Given the description of an element on the screen output the (x, y) to click on. 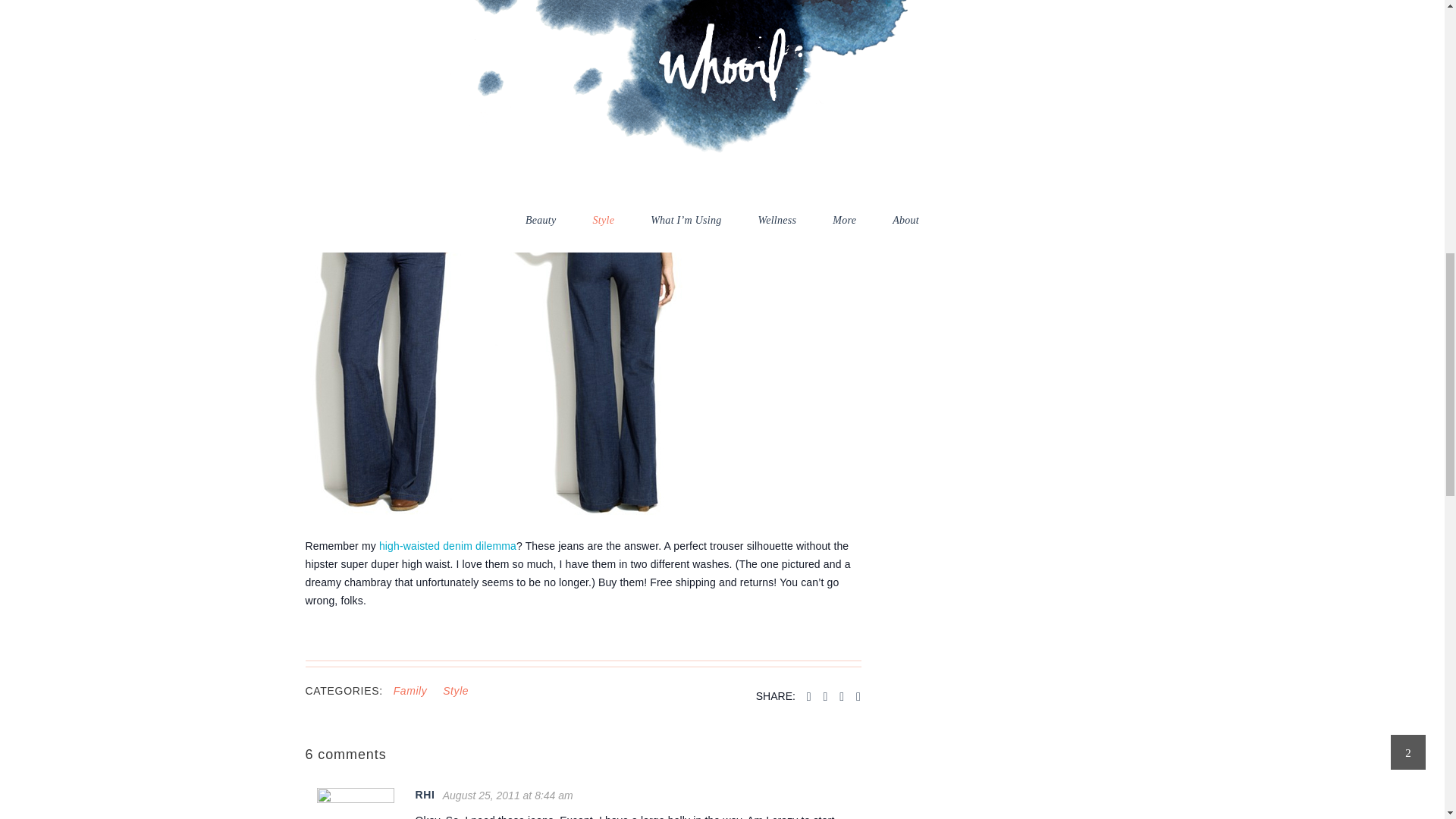
j (494, 348)
